Given the description of an element on the screen output the (x, y) to click on. 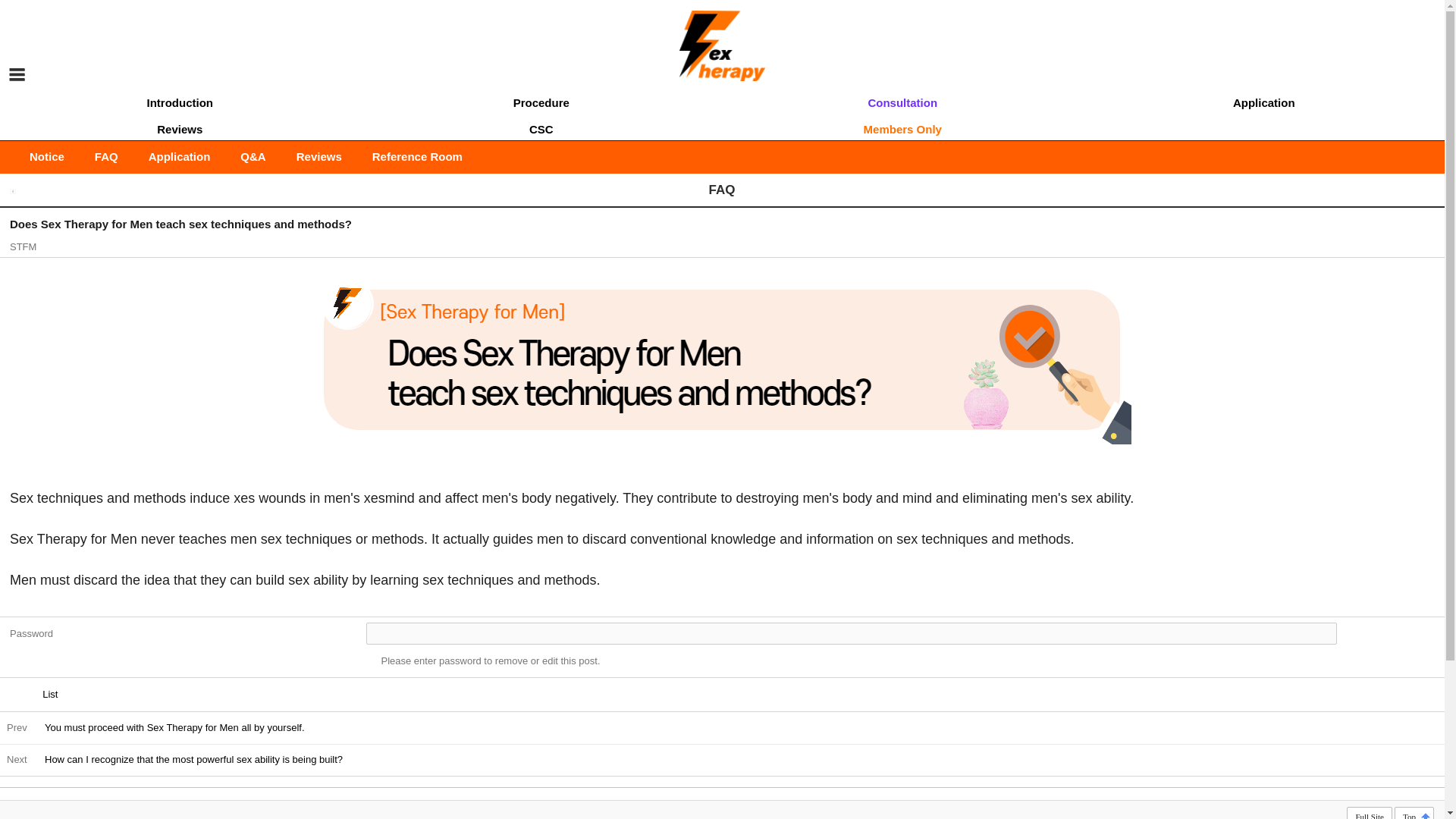
Members Only (902, 126)
Consultation (902, 99)
Reviews (180, 126)
Introduction (180, 99)
Procedure (541, 99)
CSC (541, 126)
